Given the description of an element on the screen output the (x, y) to click on. 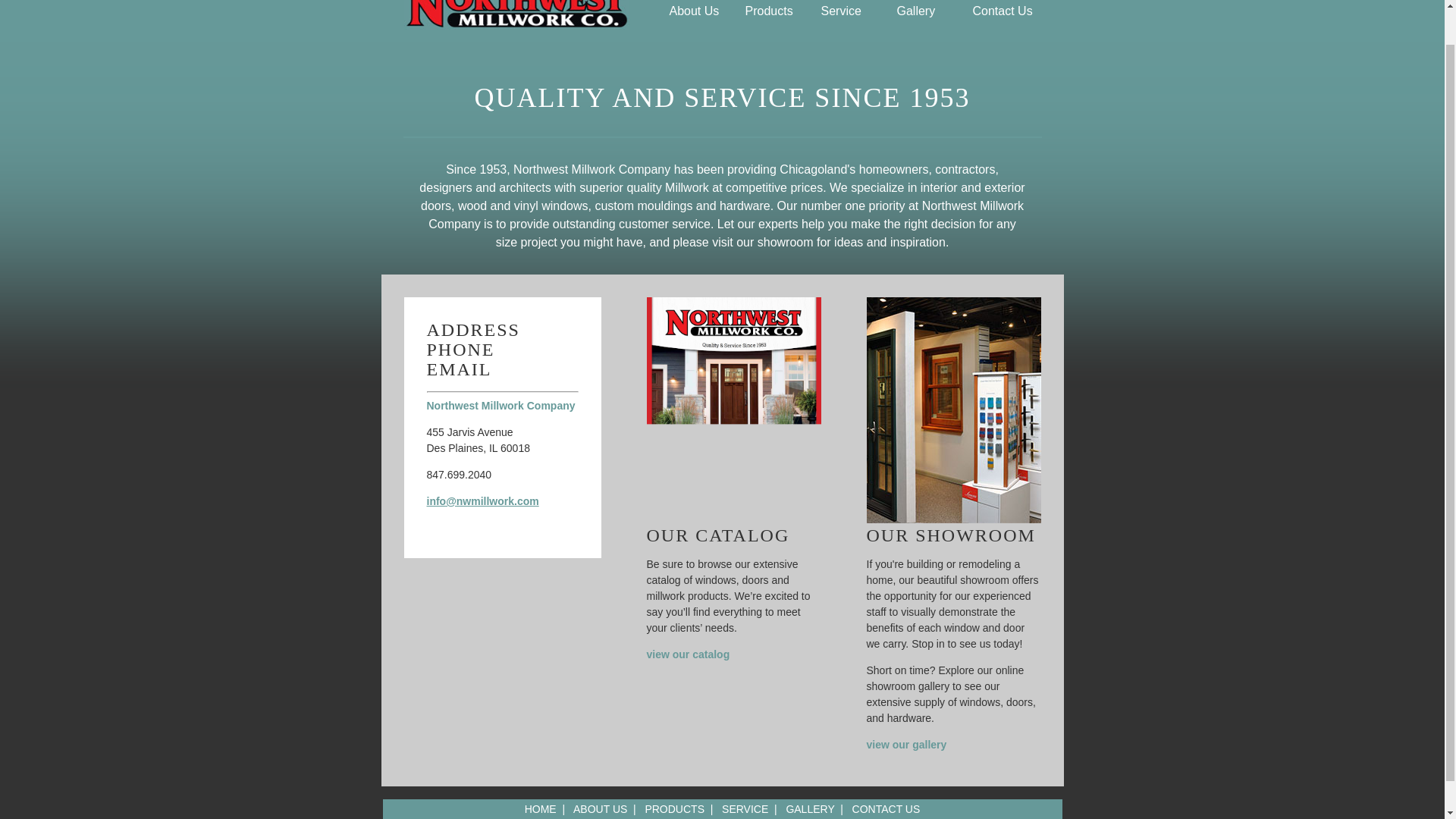
CONTACT US (885, 808)
view our catalog (687, 654)
GALLERY (810, 808)
Products (774, 12)
HOME (540, 808)
SERVICE (745, 808)
About Us (698, 12)
Service (850, 12)
PRODUCTS (674, 808)
Contact Us (1002, 12)
